Given the description of an element on the screen output the (x, y) to click on. 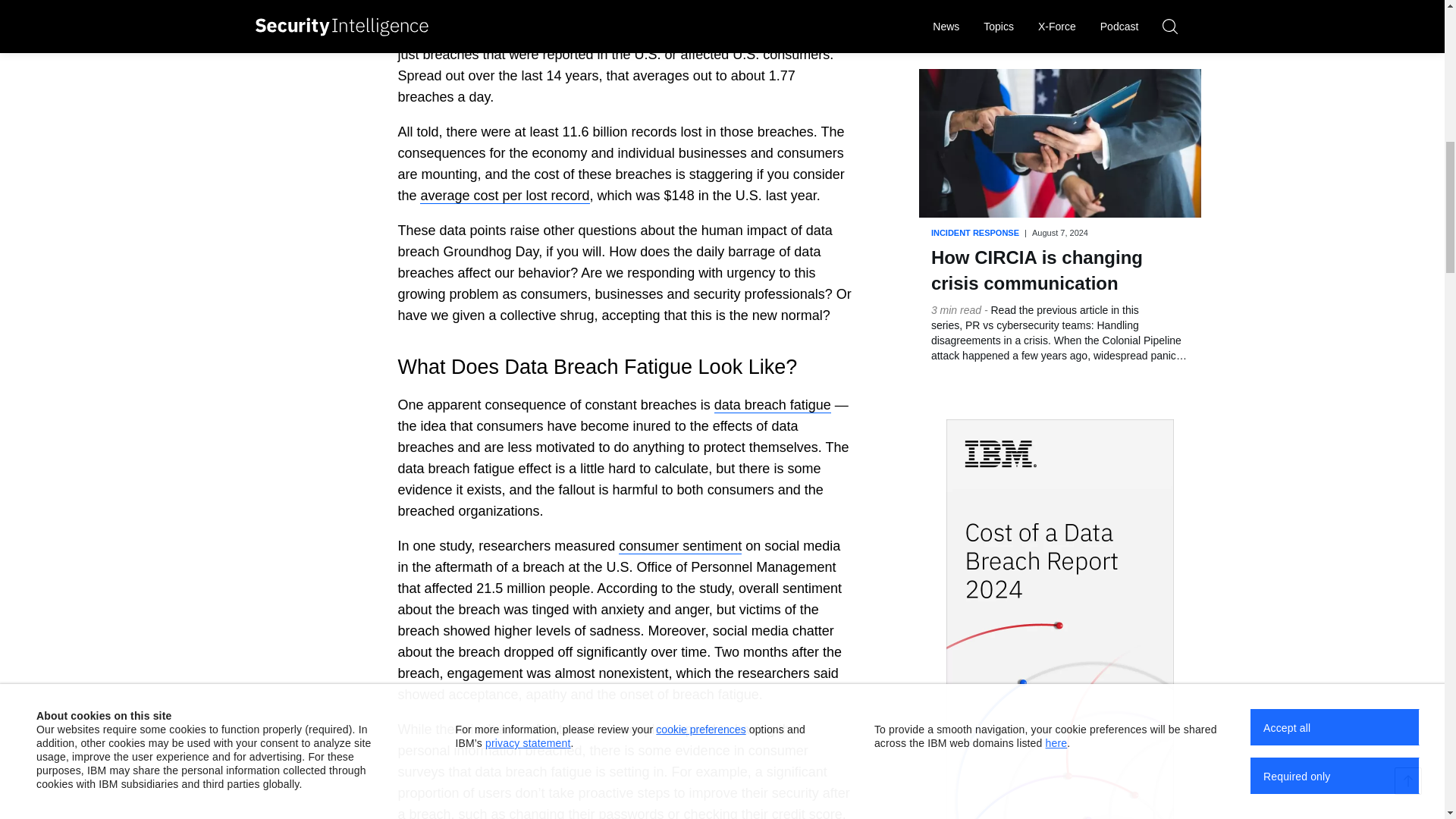
Privacy Rights Clearinghouse: List of data breaches (699, 12)
Cost of a Data Breach Report (504, 195)
Iowa State University: Combating data breach fatigue (679, 546)
